Given the description of an element on the screen output the (x, y) to click on. 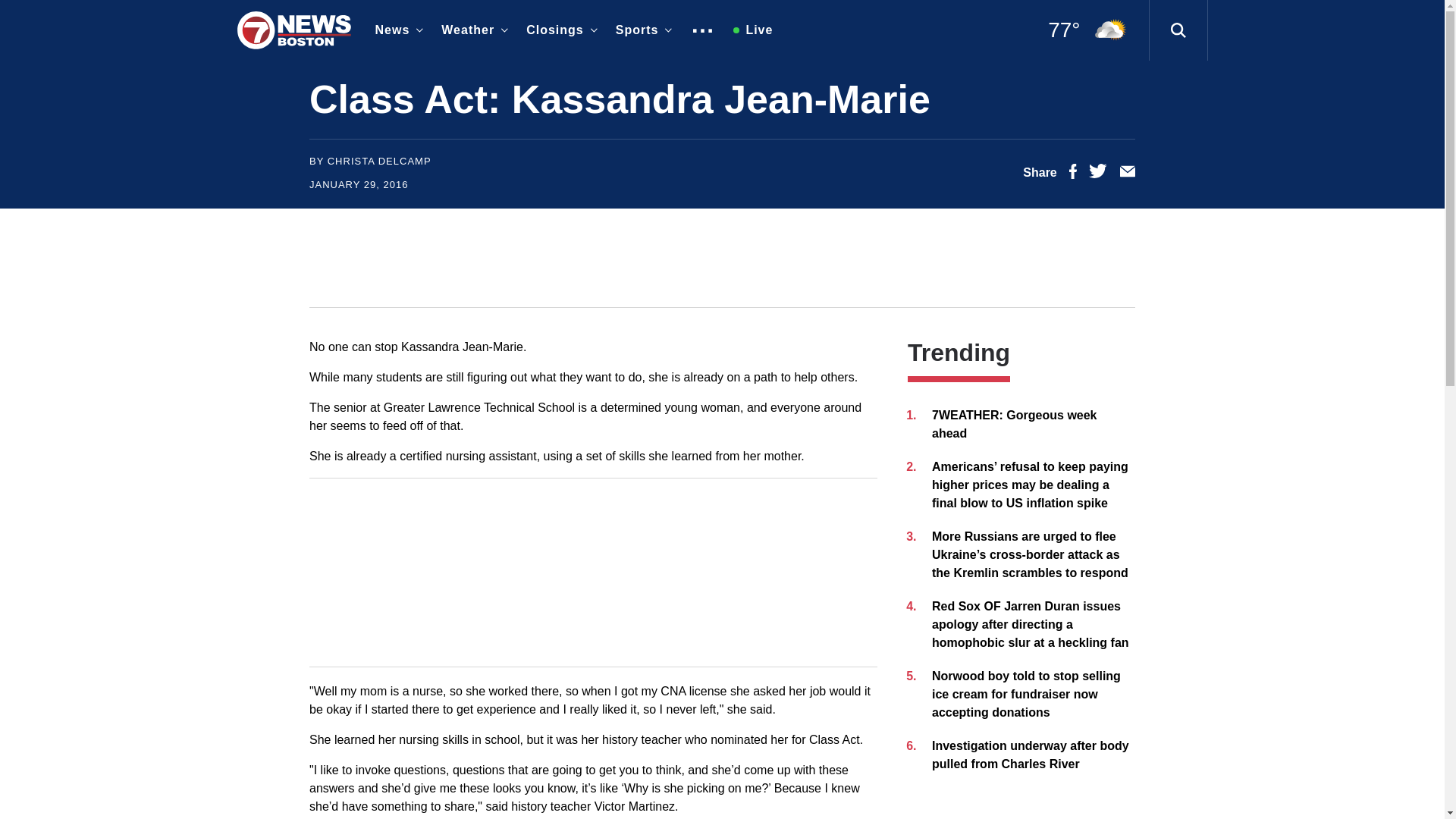
January 29, 2016 (357, 184)
Weather (471, 30)
Sports (641, 30)
Email (1127, 174)
Twitter (1098, 174)
News (395, 30)
Posts by Christa Delcamp (378, 161)
Closings (558, 30)
